Given the description of an element on the screen output the (x, y) to click on. 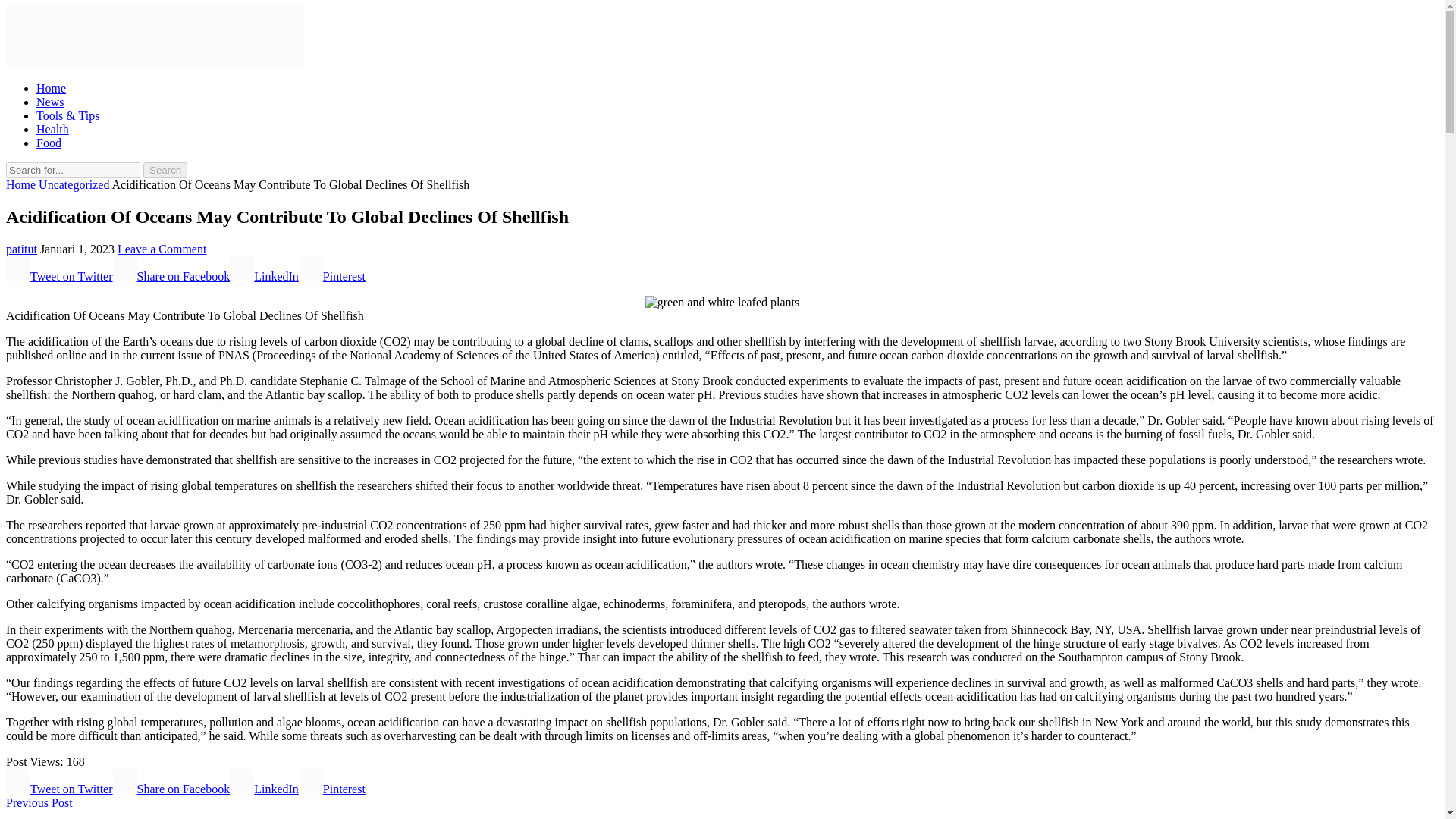
Health (52, 128)
Tweet on Twitter (59, 788)
Uncategorized (74, 184)
patitut (21, 248)
Pos-pos oleh patitut (21, 248)
Tweet on Twitter (59, 276)
Pinterest (331, 788)
LinkedIn (264, 276)
Home (50, 88)
News (50, 101)
